Given the description of an element on the screen output the (x, y) to click on. 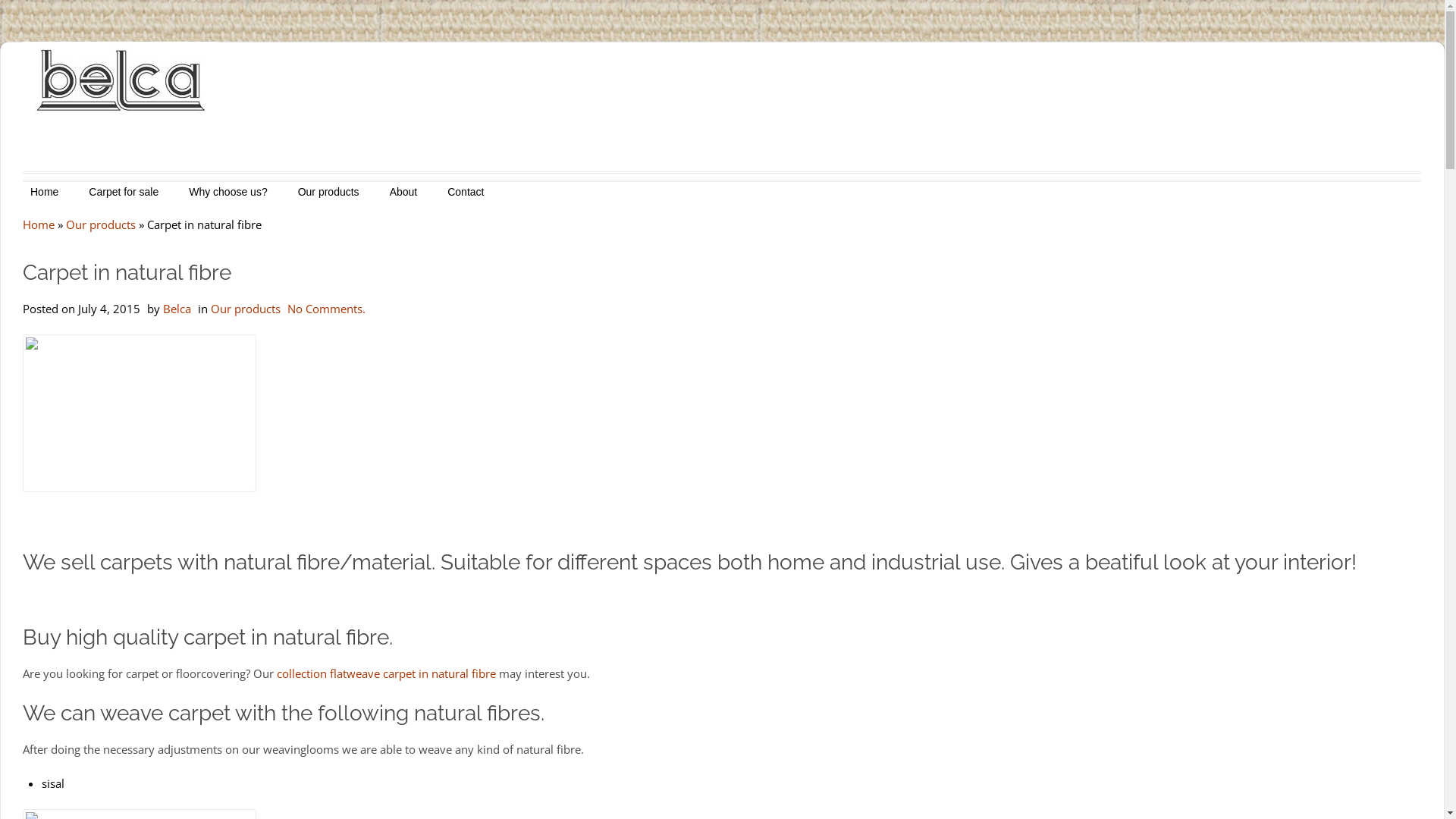
Our products Element type: text (245, 308)
Why choose us? Element type: text (228, 191)
Our products Element type: text (328, 191)
About Element type: text (403, 191)
collection flatweave carpet in natural fibre Element type: text (385, 672)
Belca Element type: text (177, 308)
Contact Element type: text (465, 191)
Home Element type: text (43, 191)
Carpet for sale Element type: text (123, 191)
Our products Element type: text (100, 224)
No Comments. Element type: text (326, 308)
Home Element type: text (38, 224)
